Given the description of an element on the screen output the (x, y) to click on. 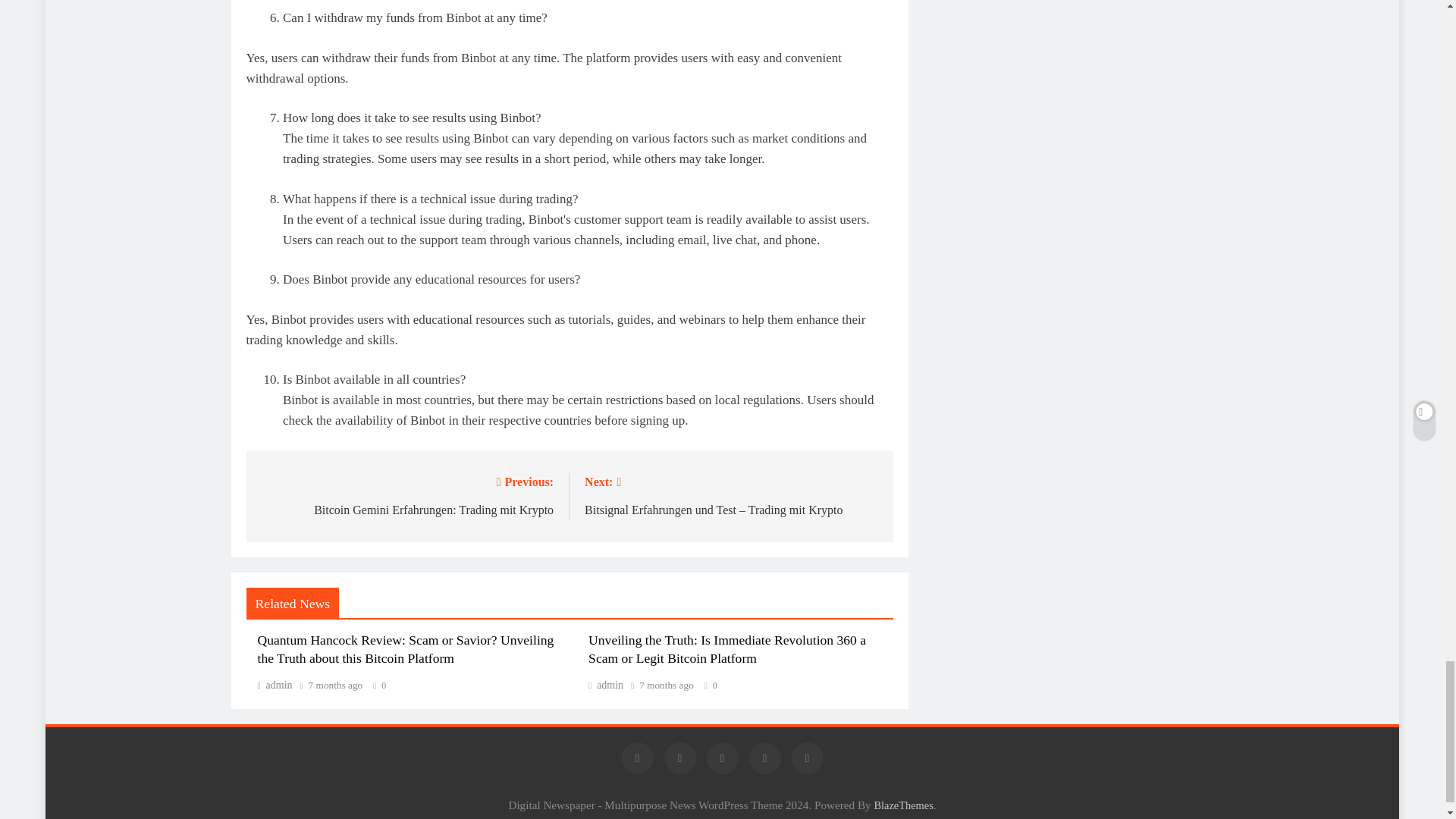
7 months ago (335, 685)
7 months ago (666, 685)
admin (274, 685)
admin (605, 685)
